Given the description of an element on the screen output the (x, y) to click on. 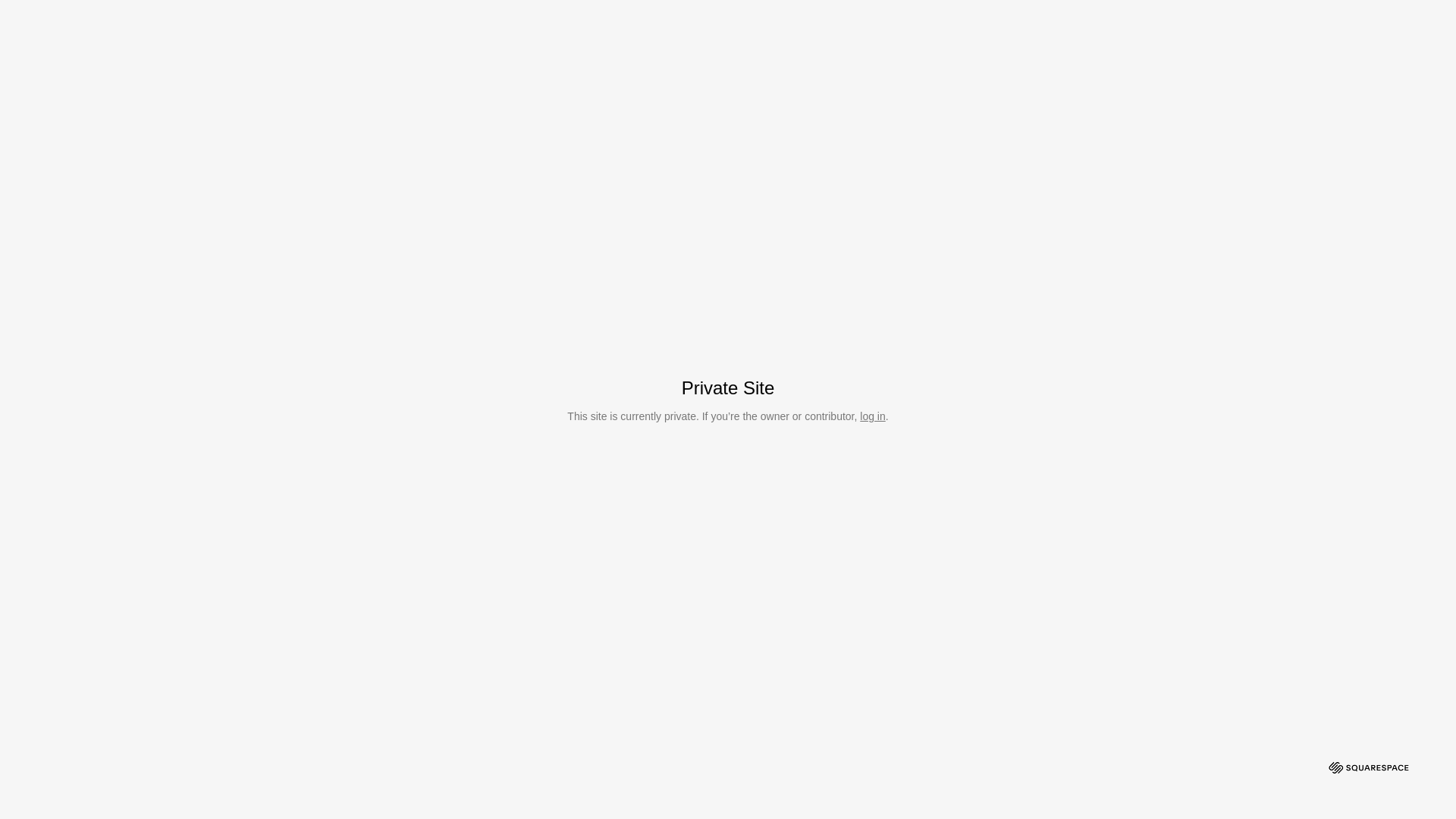
log in Element type: text (871, 416)
